Given the description of an element on the screen output the (x, y) to click on. 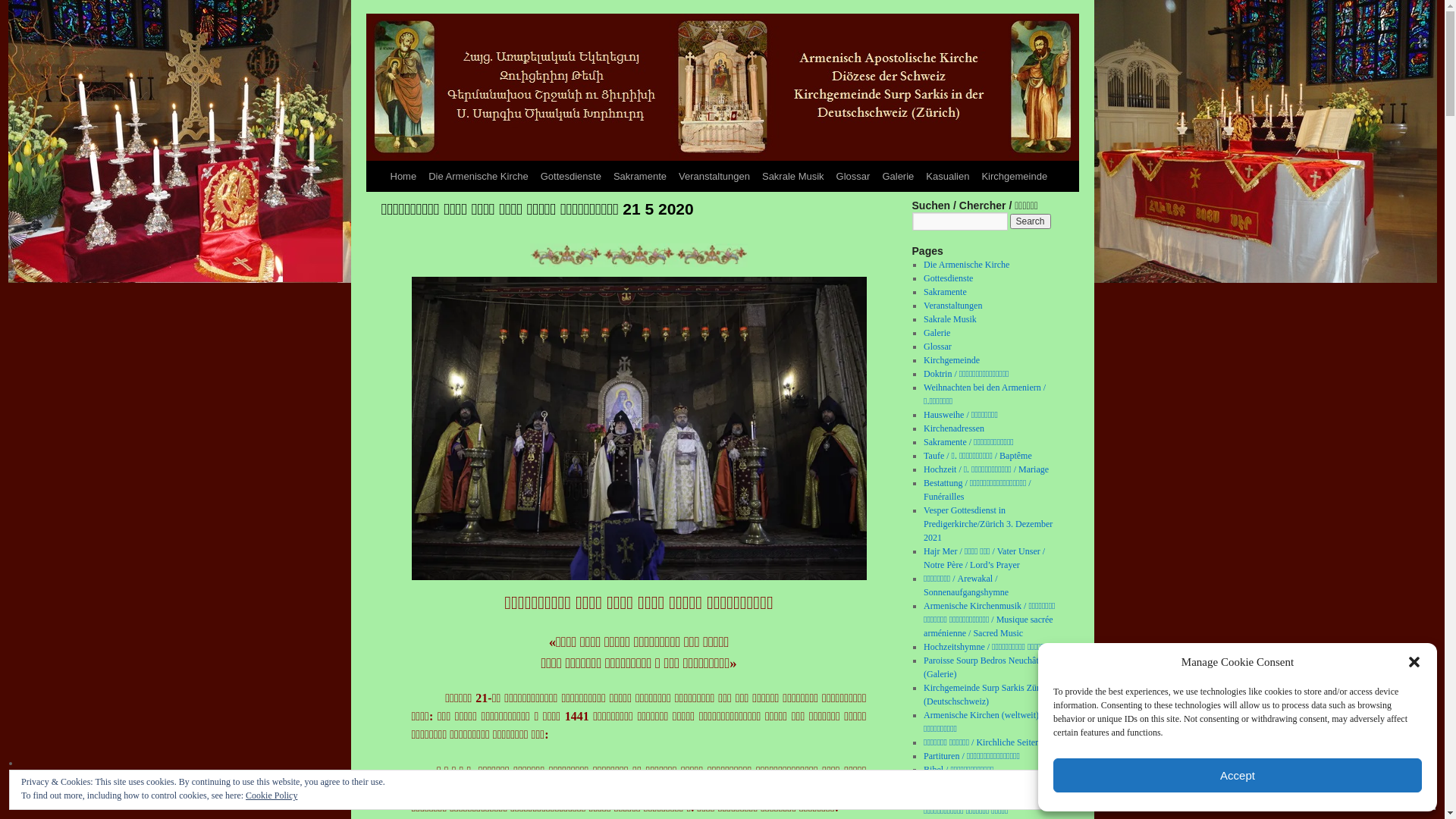
Skip to content Element type: text (371, 204)
Home Element type: text (402, 176)
Kasualien Element type: text (947, 176)
Die Armenische Kirche Element type: text (966, 264)
Galerie Element type: text (897, 176)
Kirchgemeinde Element type: text (951, 359)
Cookie Policy Element type: text (271, 795)
Accept Element type: text (1237, 775)
Search Element type: text (1030, 221)
Die Armenische Kirche Element type: text (478, 176)
Sakrale Musik Element type: text (793, 176)
Glossar Element type: text (853, 176)
Gottesdienste Element type: text (947, 278)
Veranstaltungen Element type: text (952, 305)
Galerie Element type: text (936, 332)
Gottesdienste Element type: text (570, 176)
Glossar Element type: text (937, 346)
Veranstaltungen Element type: text (714, 176)
Close and accept Element type: text (1384, 789)
Sakramente Element type: text (639, 176)
Kirchgemeinde Element type: text (1014, 176)
Sakrale Musik Element type: text (949, 318)
Kirchenadressen Element type: text (953, 428)
Sakramente Element type: text (944, 291)
